Given the description of an element on the screen output the (x, y) to click on. 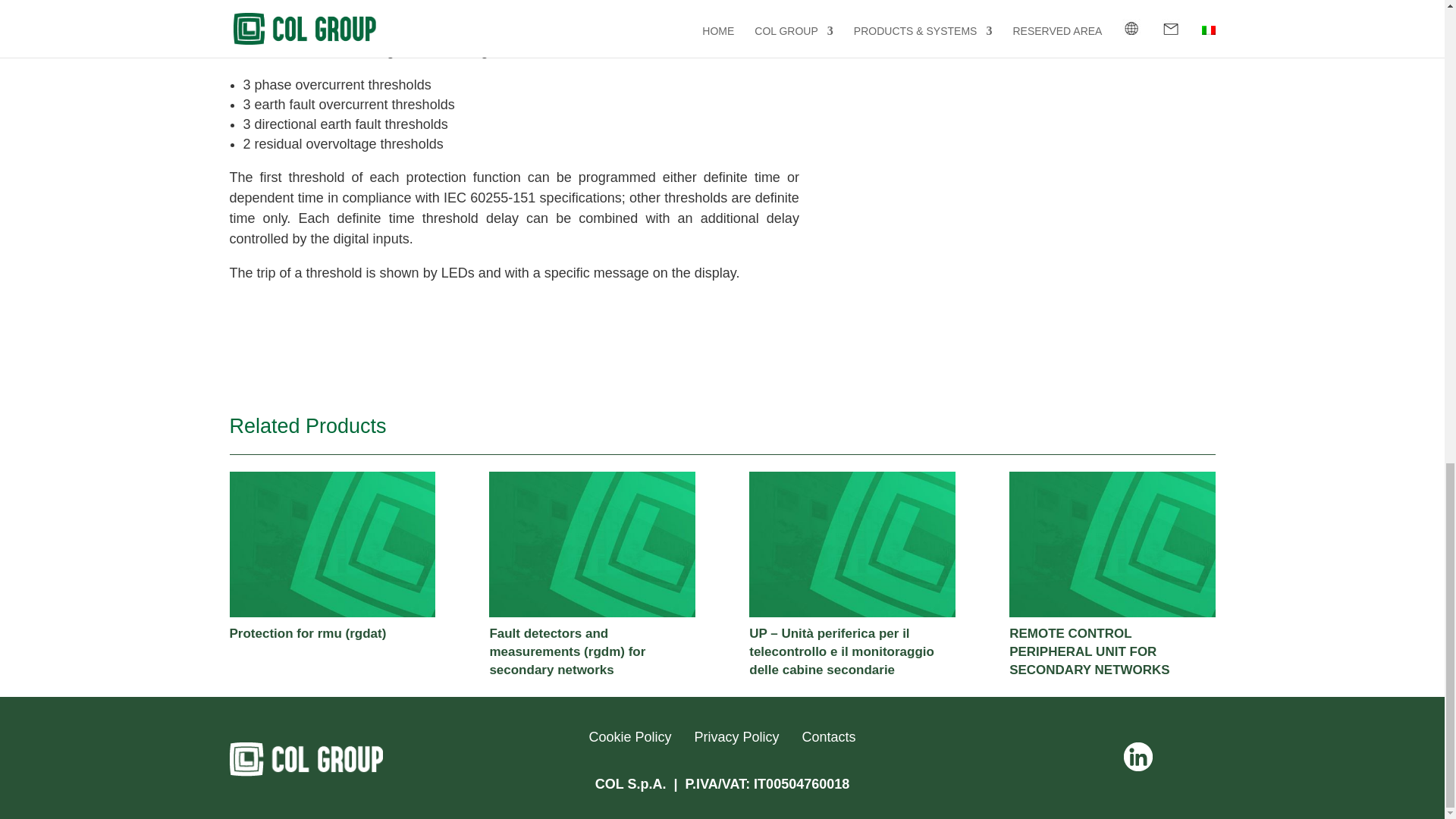
REMOTE CONTROL PERIPHERAL UNIT FOR SECONDARY NETWORKS (1111, 543)
REMOTE CONTROL PERIPHERAL UNIT FOR SECONDARY NETWORKS (1089, 651)
Logo COL GROUP white (305, 759)
Linkedin-Icon (1138, 756)
